Given the description of an element on the screen output the (x, y) to click on. 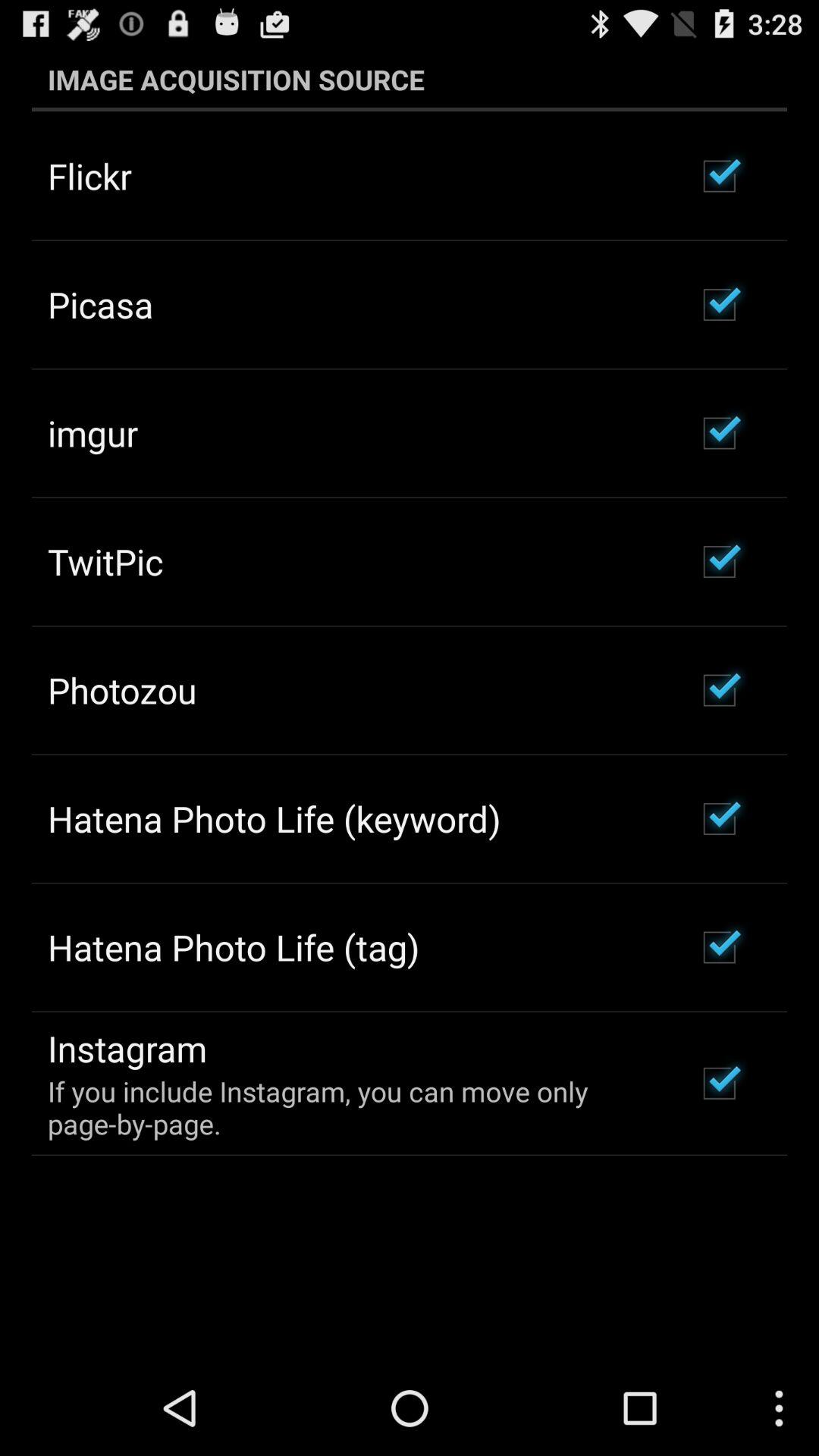
jump until the picasa (100, 304)
